Given the description of an element on the screen output the (x, y) to click on. 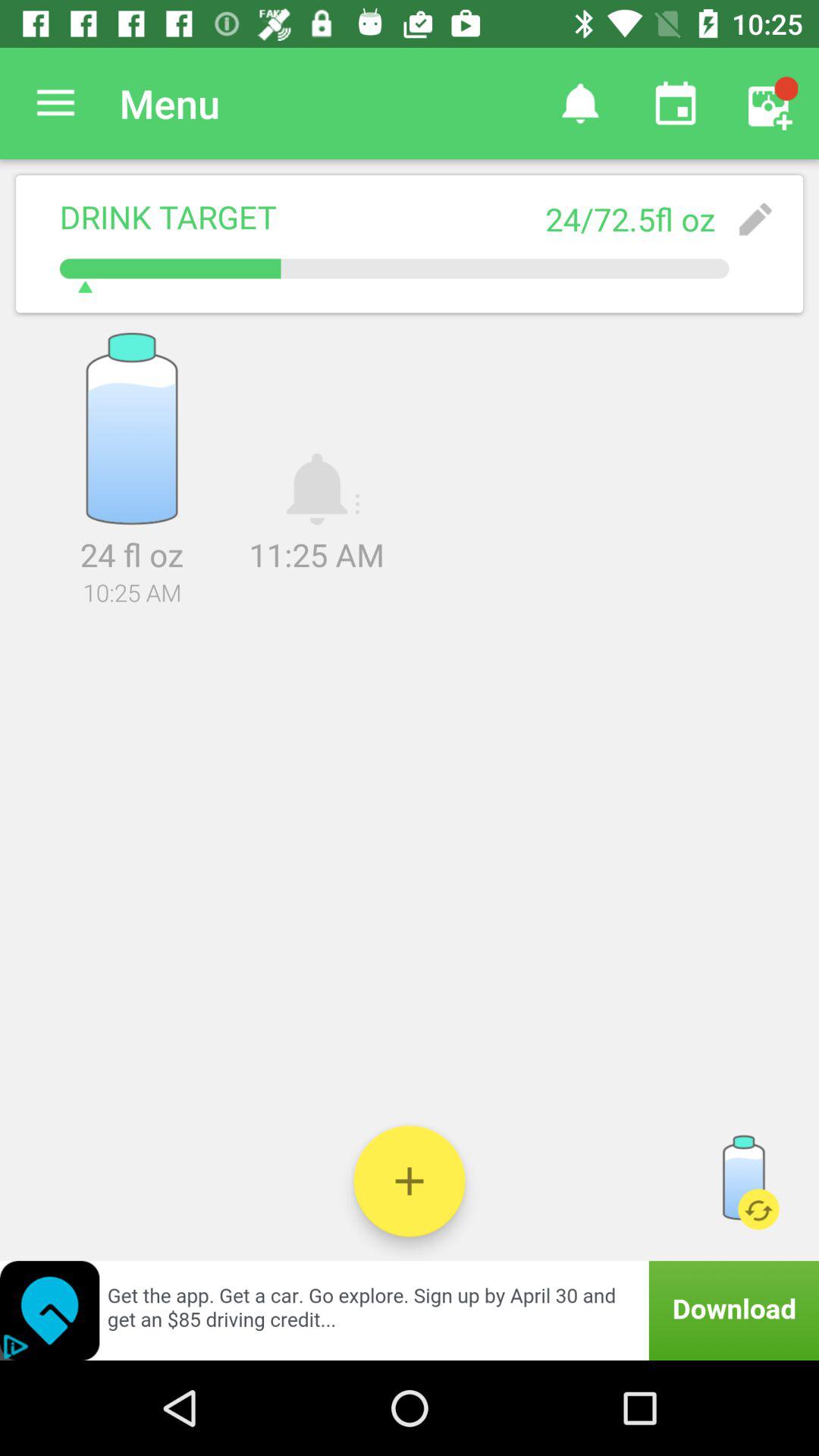
add another bottle (409, 1181)
